Given the description of an element on the screen output the (x, y) to click on. 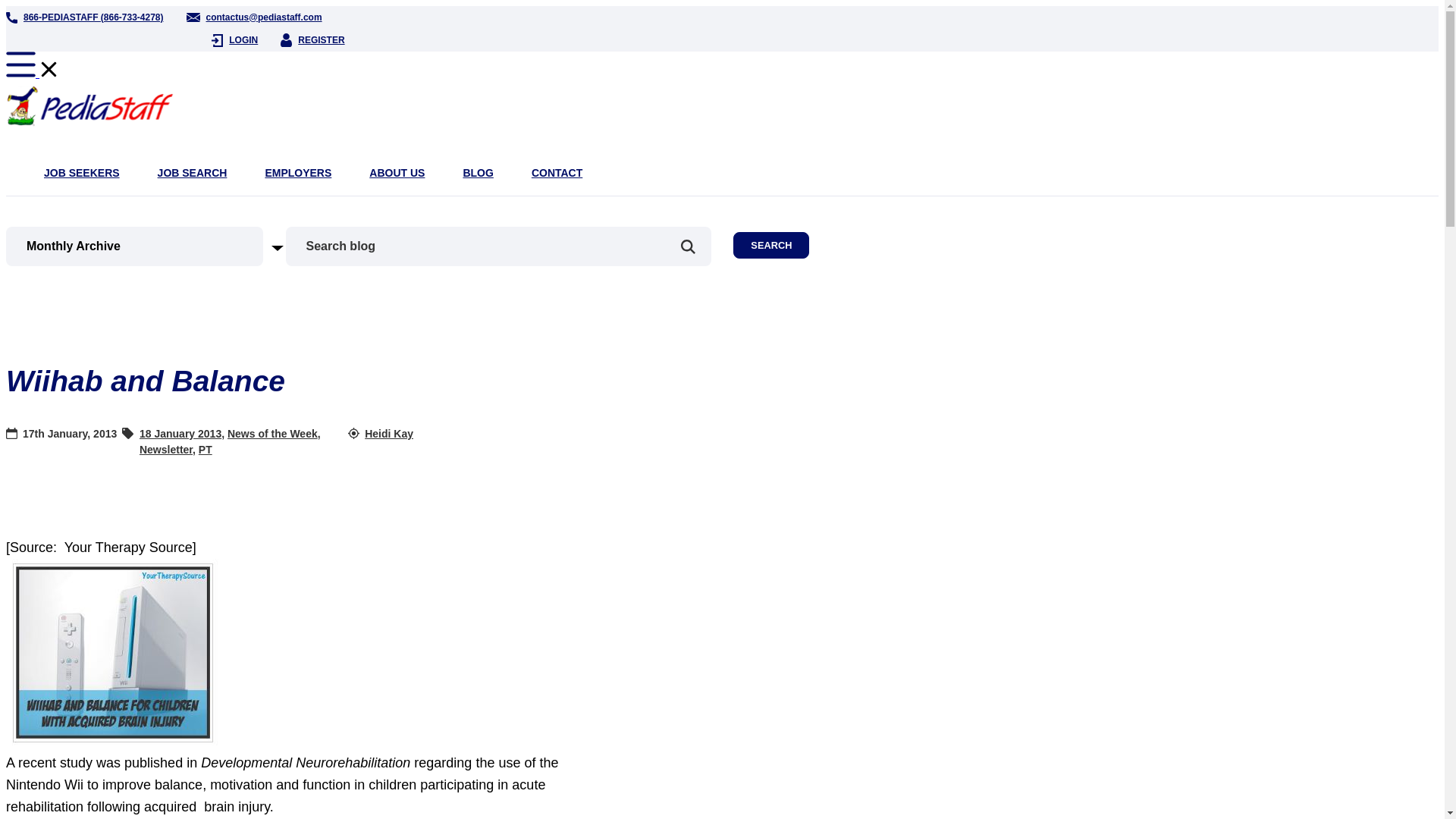
CONTACT (556, 173)
REGISTER (312, 39)
SEARCH (771, 244)
Monthly Archive (154, 246)
JOB SEEKERS (81, 173)
JOB SEARCH (192, 173)
EMPLOYERS (297, 173)
BLOG (478, 173)
wihab (113, 651)
LOGIN (234, 39)
ABOUT US (397, 173)
